Given the description of an element on the screen output the (x, y) to click on. 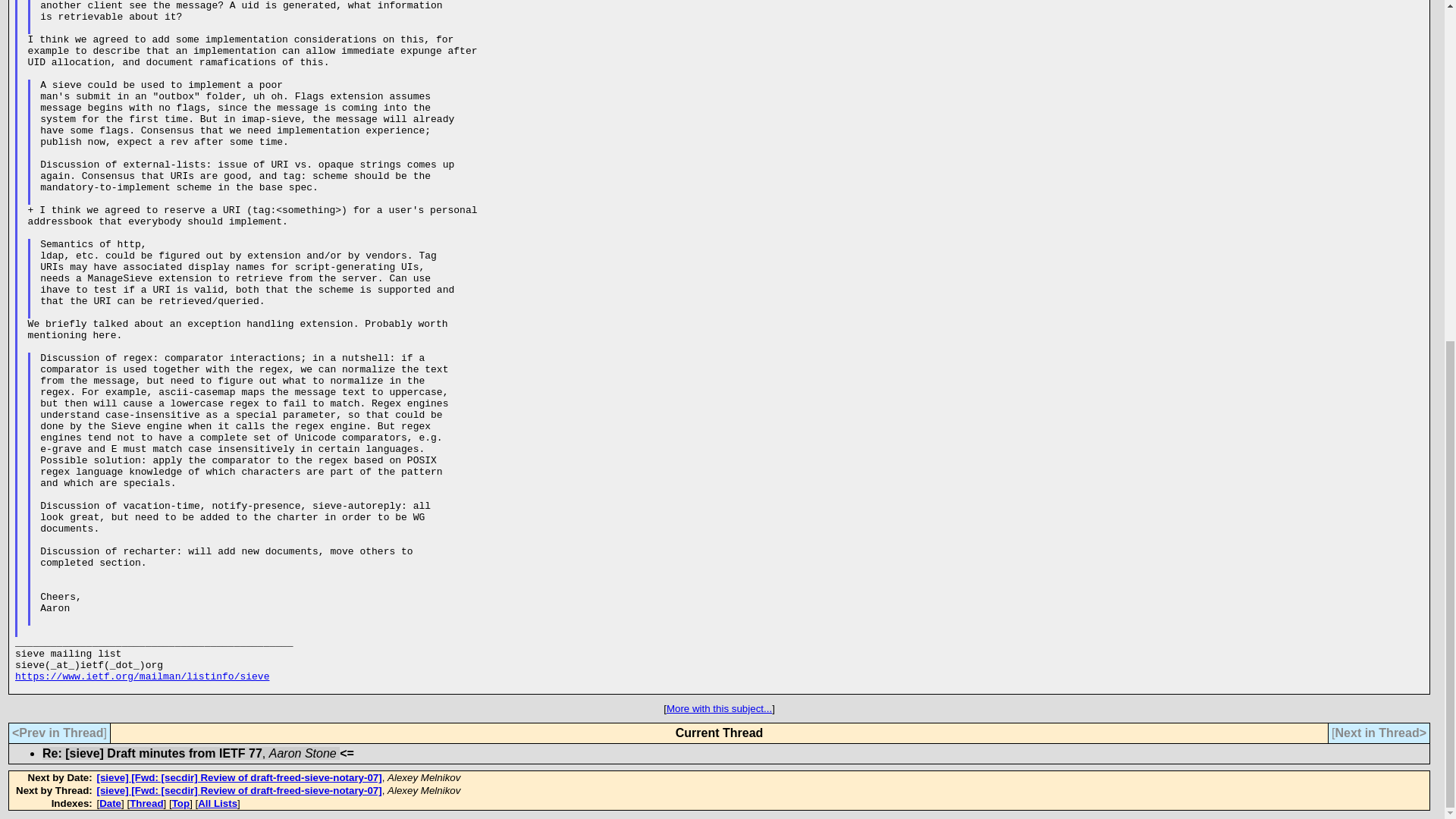
All Lists (217, 803)
More with this subject... (718, 708)
Top (180, 803)
Thread (146, 803)
Date (109, 803)
